Given the description of an element on the screen output the (x, y) to click on. 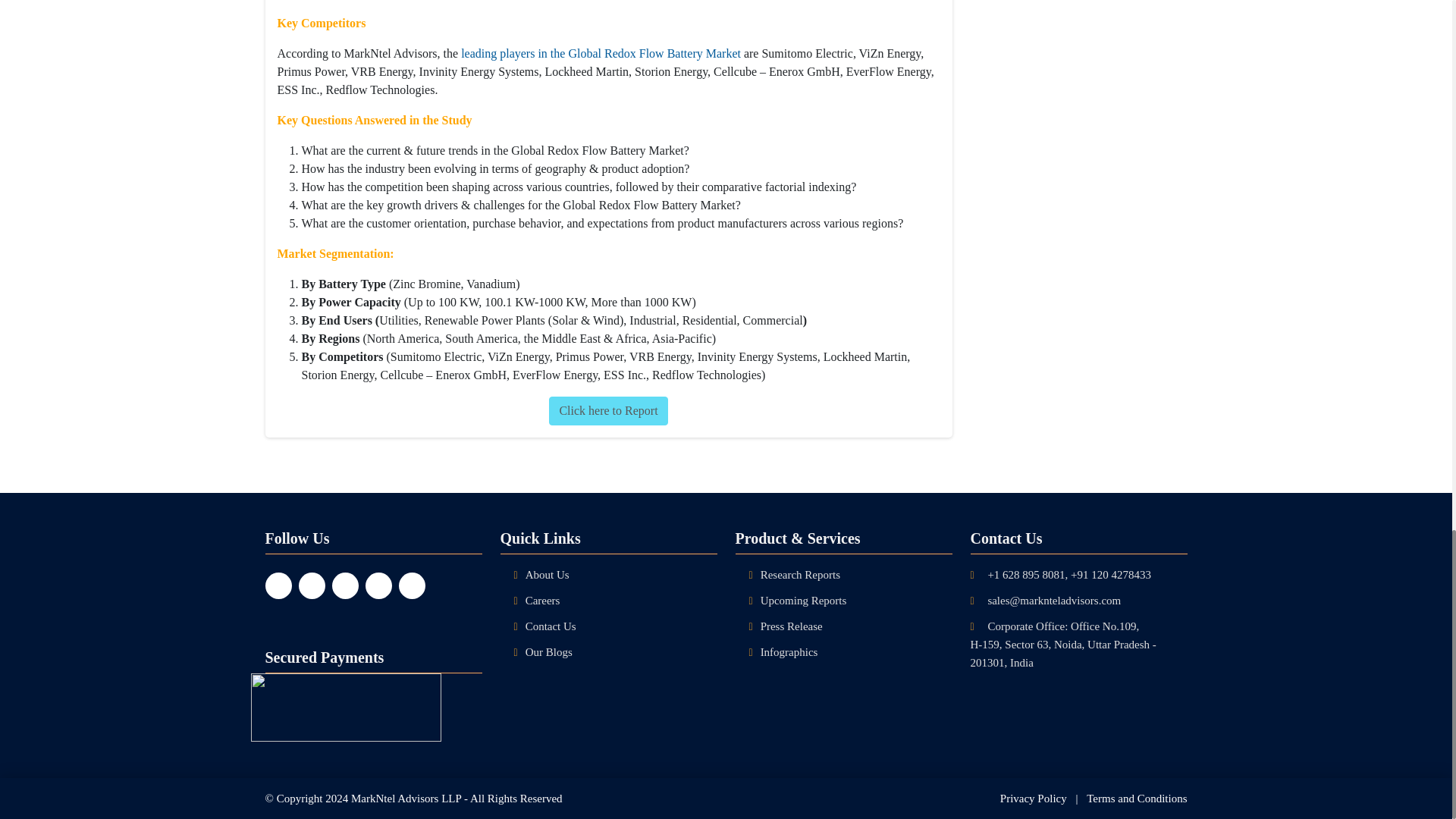
leading players in the Global Redox Flow Battery Market (602, 52)
Click here to Report (607, 408)
Click here to Report (607, 410)
